Given the description of an element on the screen output the (x, y) to click on. 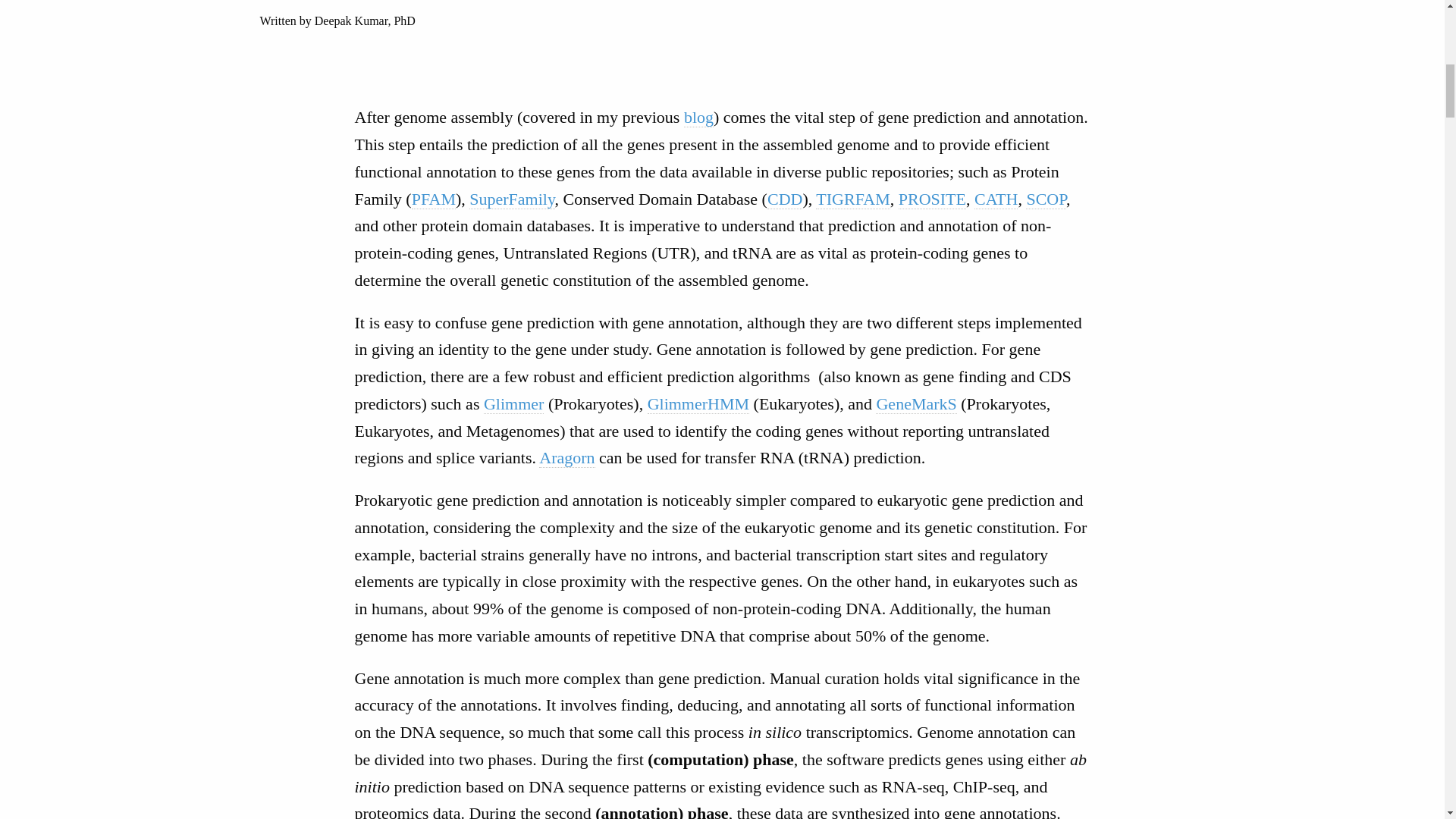
GlimmerHMM (698, 403)
Glimmer (513, 403)
GeneMarkS (916, 403)
CDD (784, 199)
Aragorn (566, 457)
SCOP (1045, 199)
blog (698, 117)
PROSITE (932, 199)
CATH (995, 199)
SuperFamily (511, 199)
PFAM (433, 199)
TIGRFAM (852, 199)
